Given the description of an element on the screen output the (x, y) to click on. 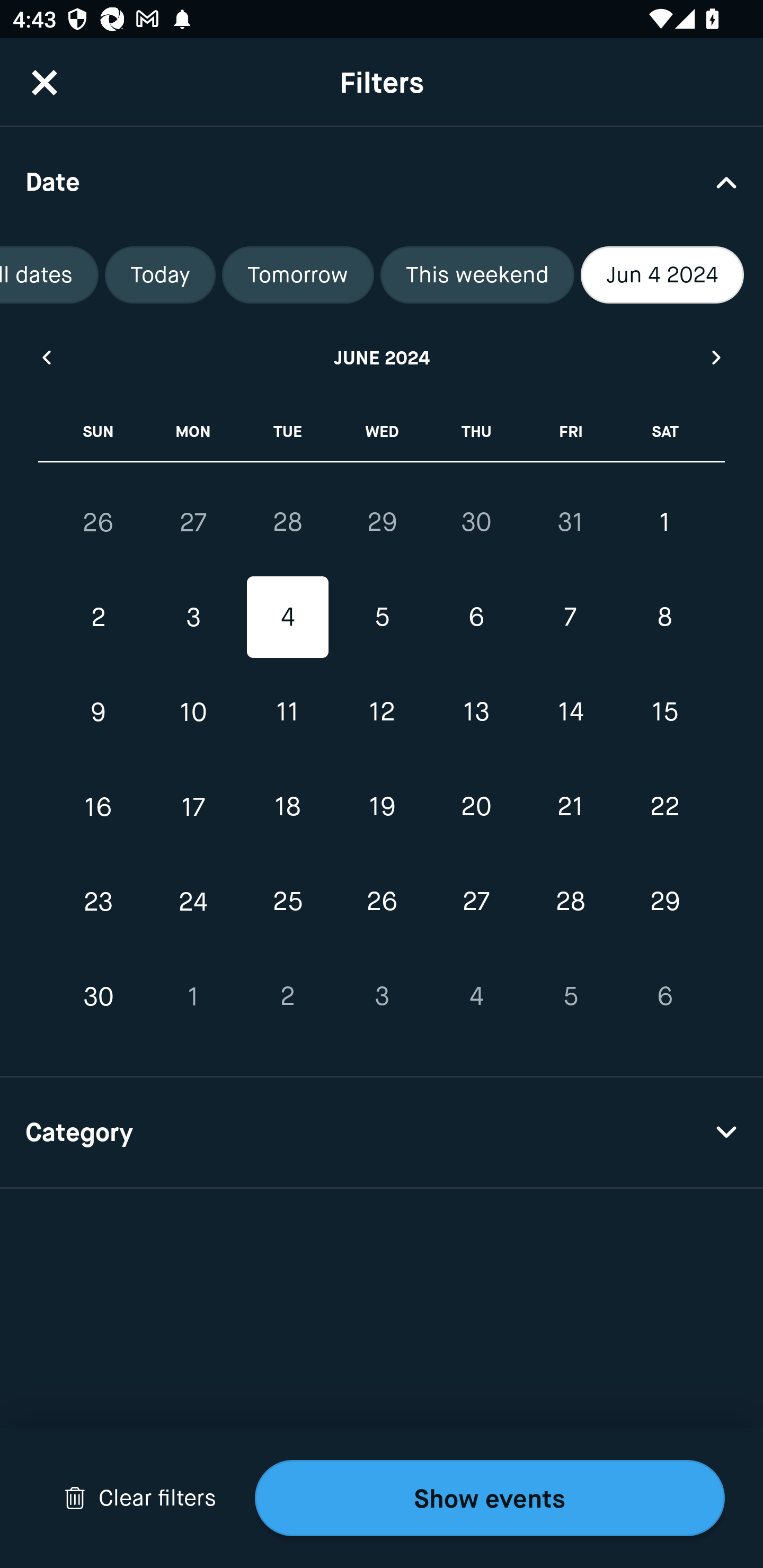
CloseButton (44, 82)
Date Drop Down Arrow (381, 181)
All dates (49, 274)
Today (160, 274)
Tomorrow (297, 274)
This weekend (477, 274)
Jun 4 2024 (661, 274)
Previous (45, 357)
Next (717, 357)
26 (98, 522)
27 (192, 522)
28 (287, 522)
29 (381, 522)
30 (475, 522)
31 (570, 522)
1 (664, 522)
2 (98, 617)
3 (192, 617)
4 (287, 617)
5 (381, 617)
6 (475, 617)
7 (570, 617)
8 (664, 617)
9 (98, 711)
10 (192, 711)
11 (287, 711)
12 (381, 711)
13 (475, 711)
14 (570, 711)
15 (664, 711)
16 (98, 806)
17 (192, 806)
18 (287, 806)
19 (381, 806)
20 (475, 806)
21 (570, 806)
22 (664, 806)
23 (98, 901)
24 (192, 901)
25 (287, 901)
26 (381, 901)
27 (475, 901)
28 (570, 901)
29 (664, 901)
30 (98, 996)
1 (192, 996)
2 (287, 996)
3 (381, 996)
4 (475, 996)
5 (570, 996)
